Given the description of an element on the screen output the (x, y) to click on. 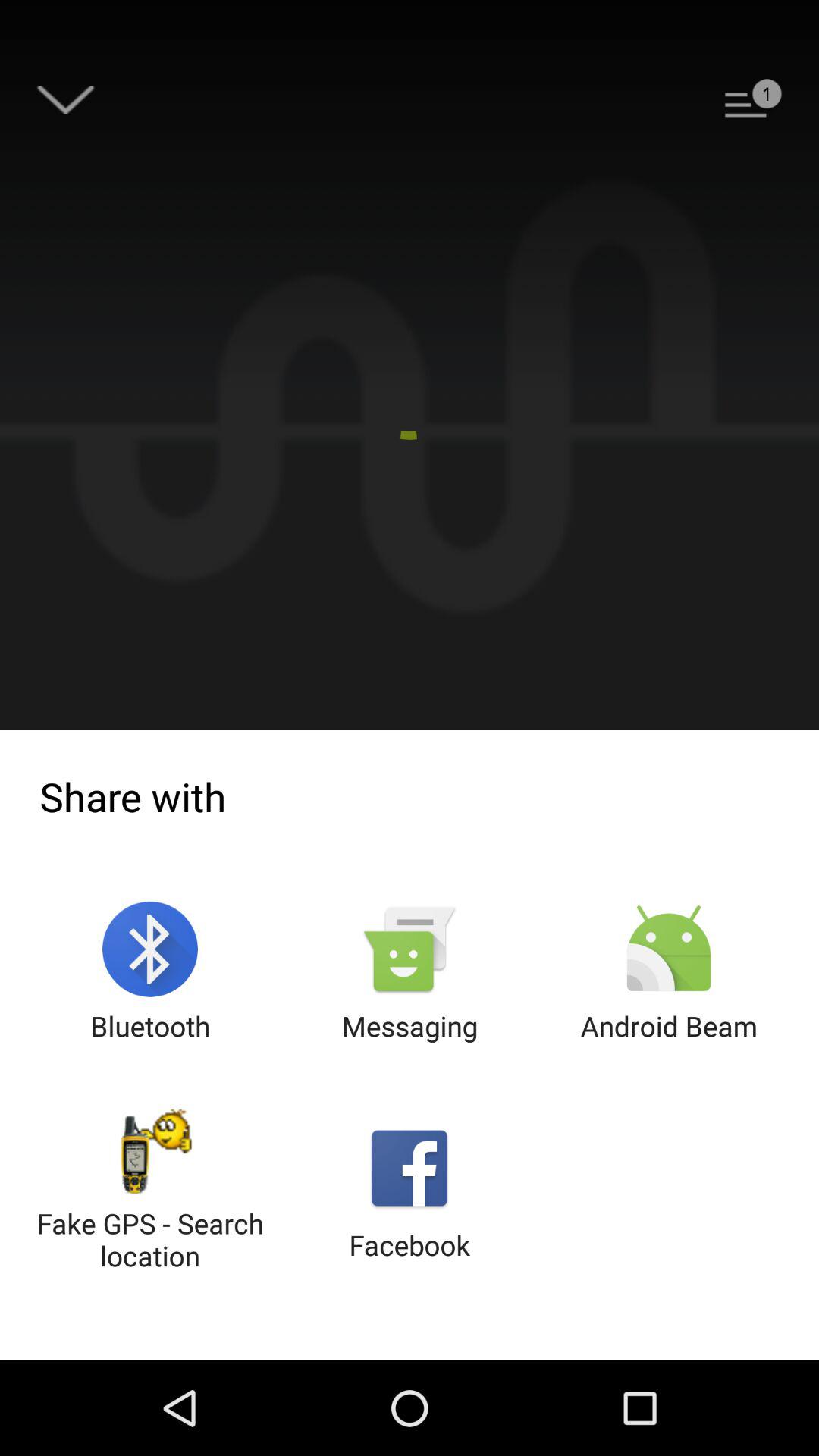
flip until messaging icon (409, 972)
